Given the description of an element on the screen output the (x, y) to click on. 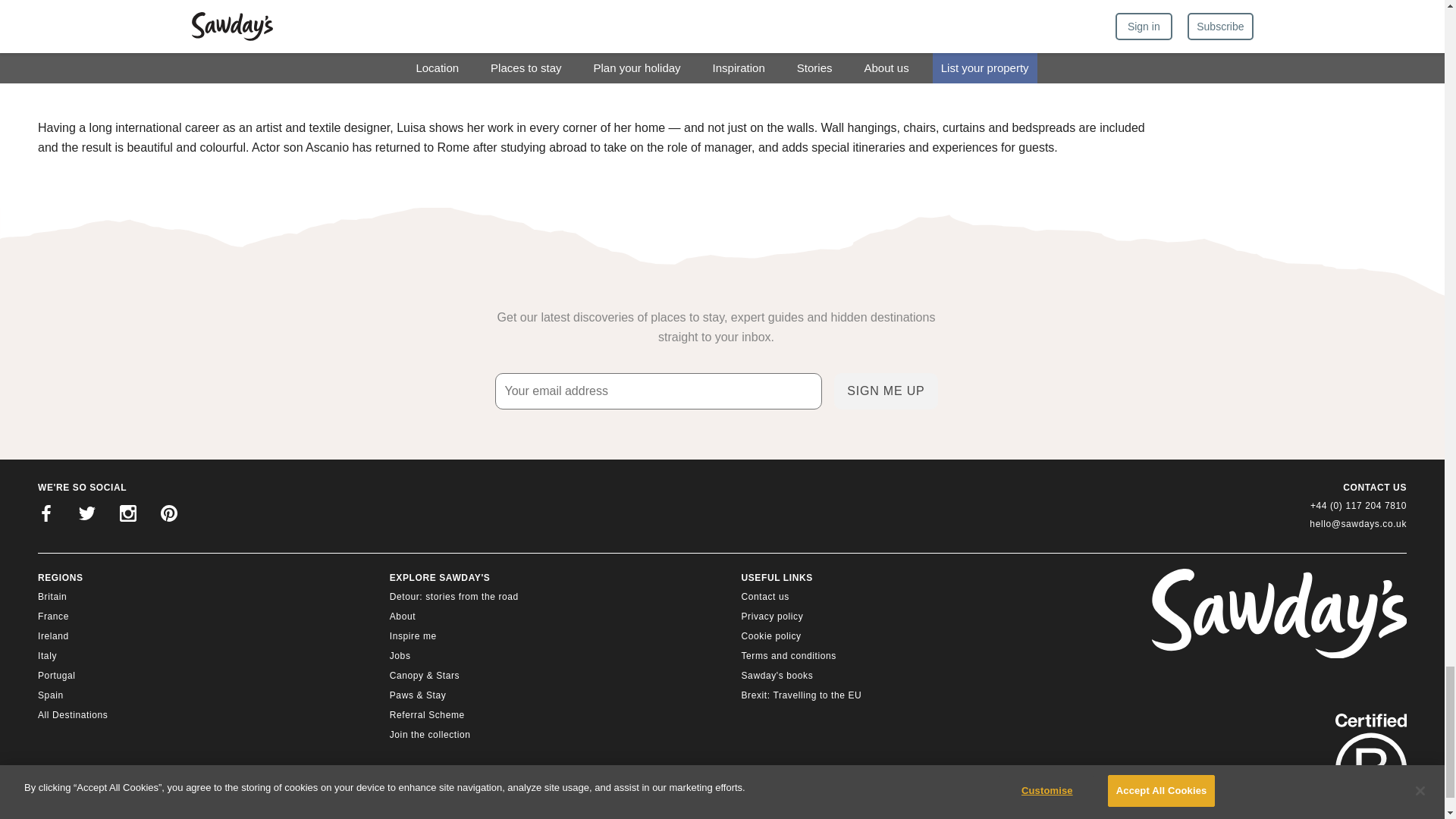
Facebook (46, 516)
Pinterest (168, 516)
Twitter (86, 516)
SIGN ME UP (885, 391)
Instagram (127, 516)
